Given the description of an element on the screen output the (x, y) to click on. 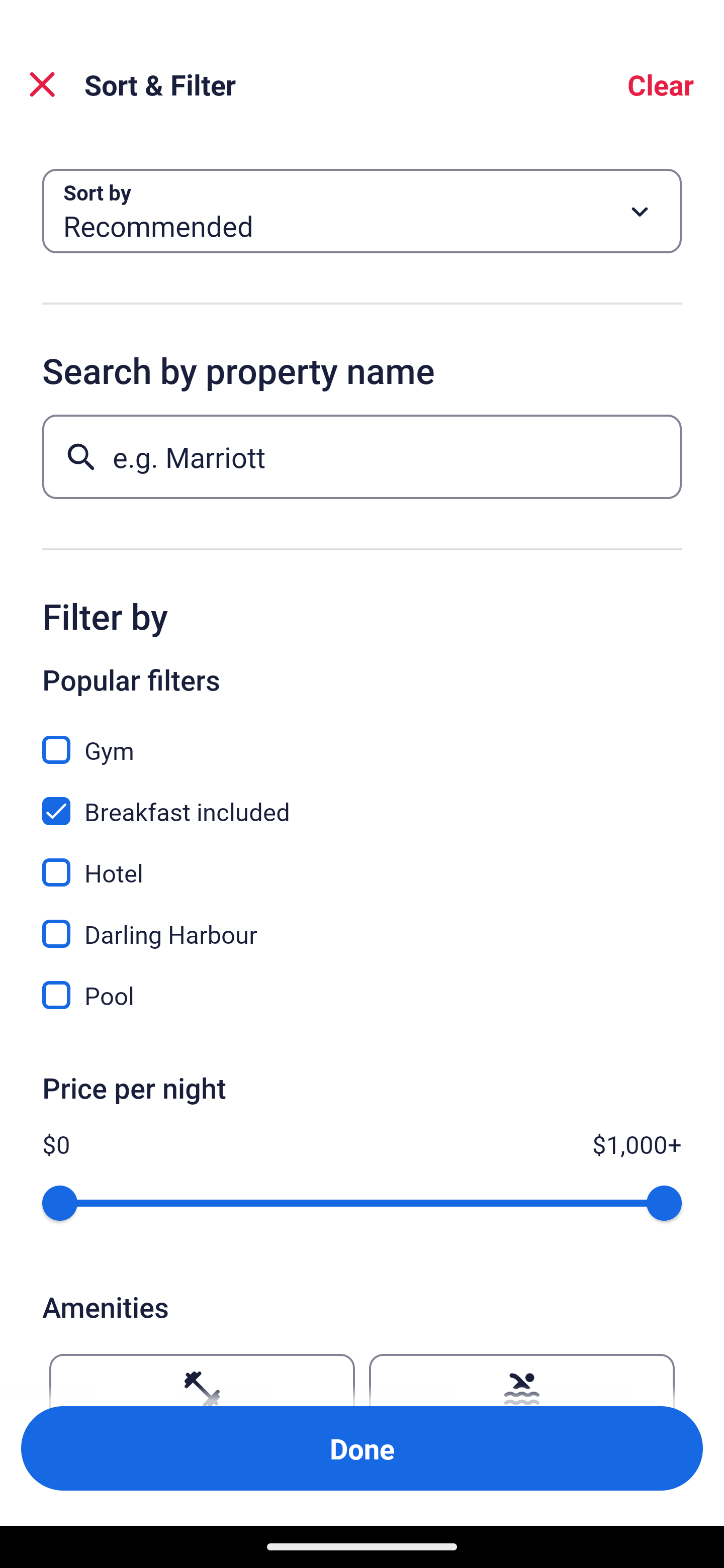
Close Sort and Filter (42, 84)
Clear (660, 84)
Sort by Button Recommended (361, 211)
e.g. Marriott Button (361, 455)
Gym, Gym (361, 738)
Breakfast included, Breakfast included (361, 800)
Hotel, Hotel (361, 861)
Darling Harbour, Darling Harbour (361, 922)
Pool, Pool (361, 995)
Apply and close Sort and Filter Done (361, 1448)
